Given the description of an element on the screen output the (x, y) to click on. 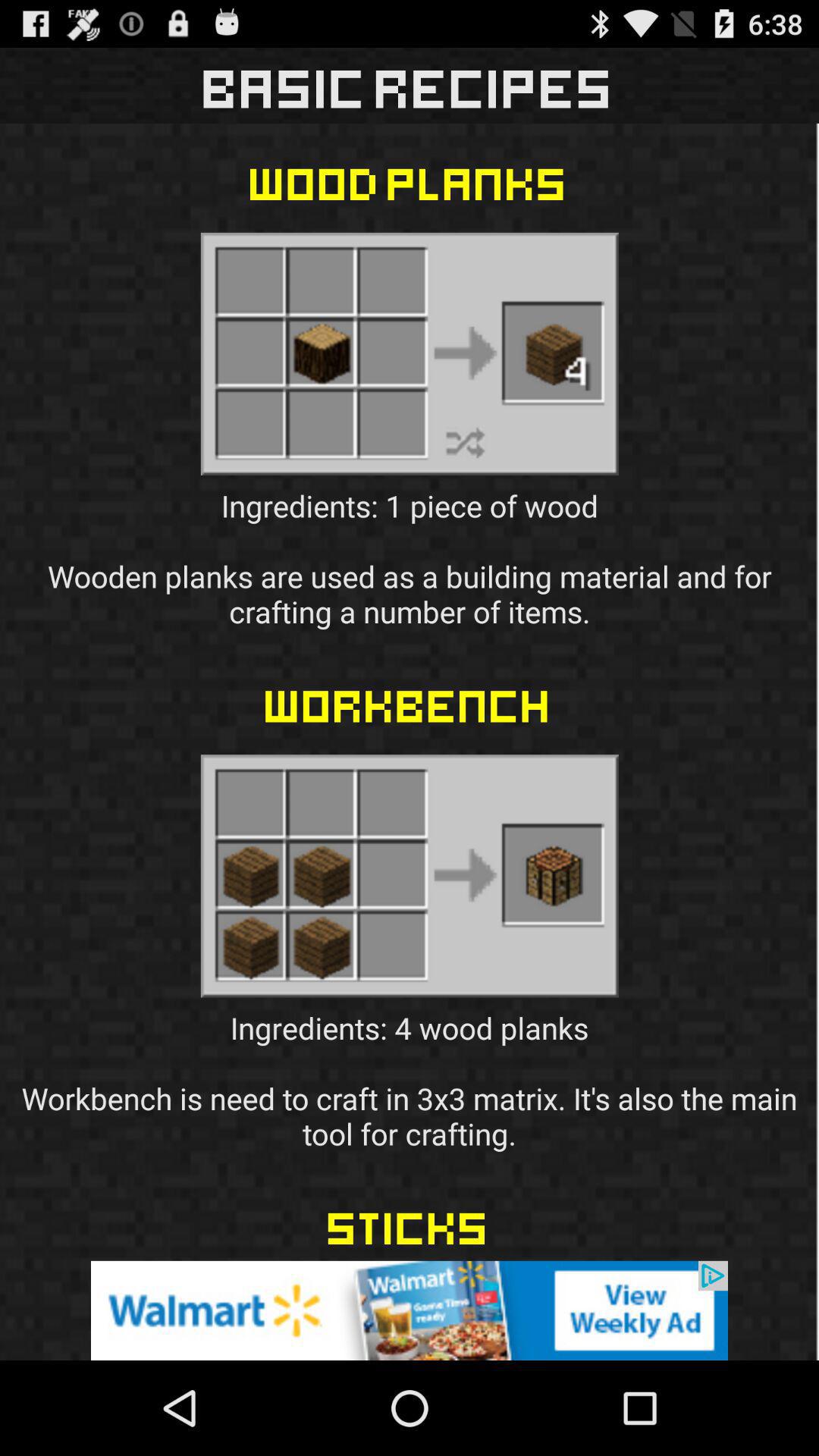
view information about the advertisement (409, 1310)
